Given the description of an element on the screen output the (x, y) to click on. 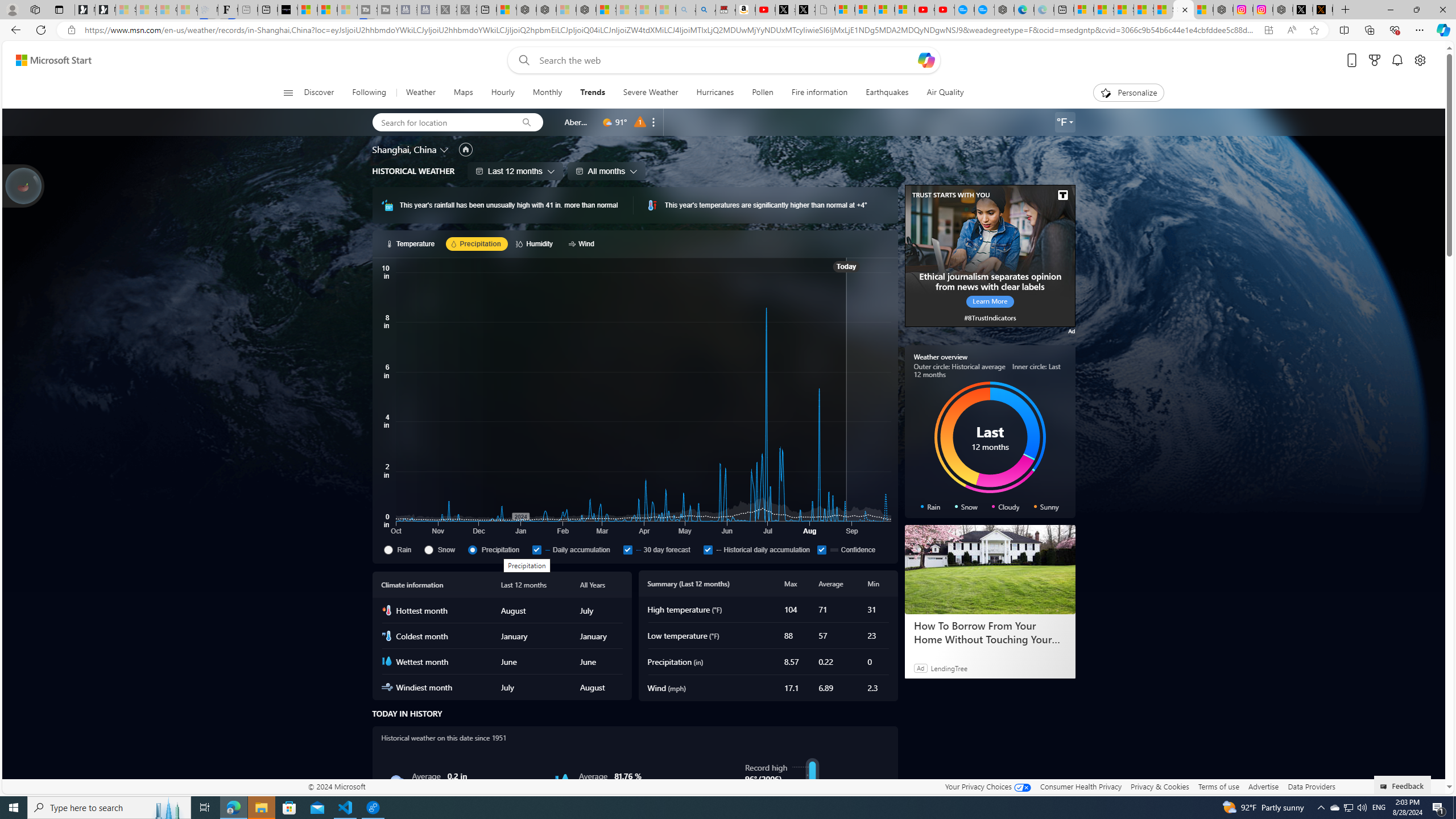
Snow (443, 549)
Fire information (818, 92)
Earthquakes (887, 92)
